Given the description of an element on the screen output the (x, y) to click on. 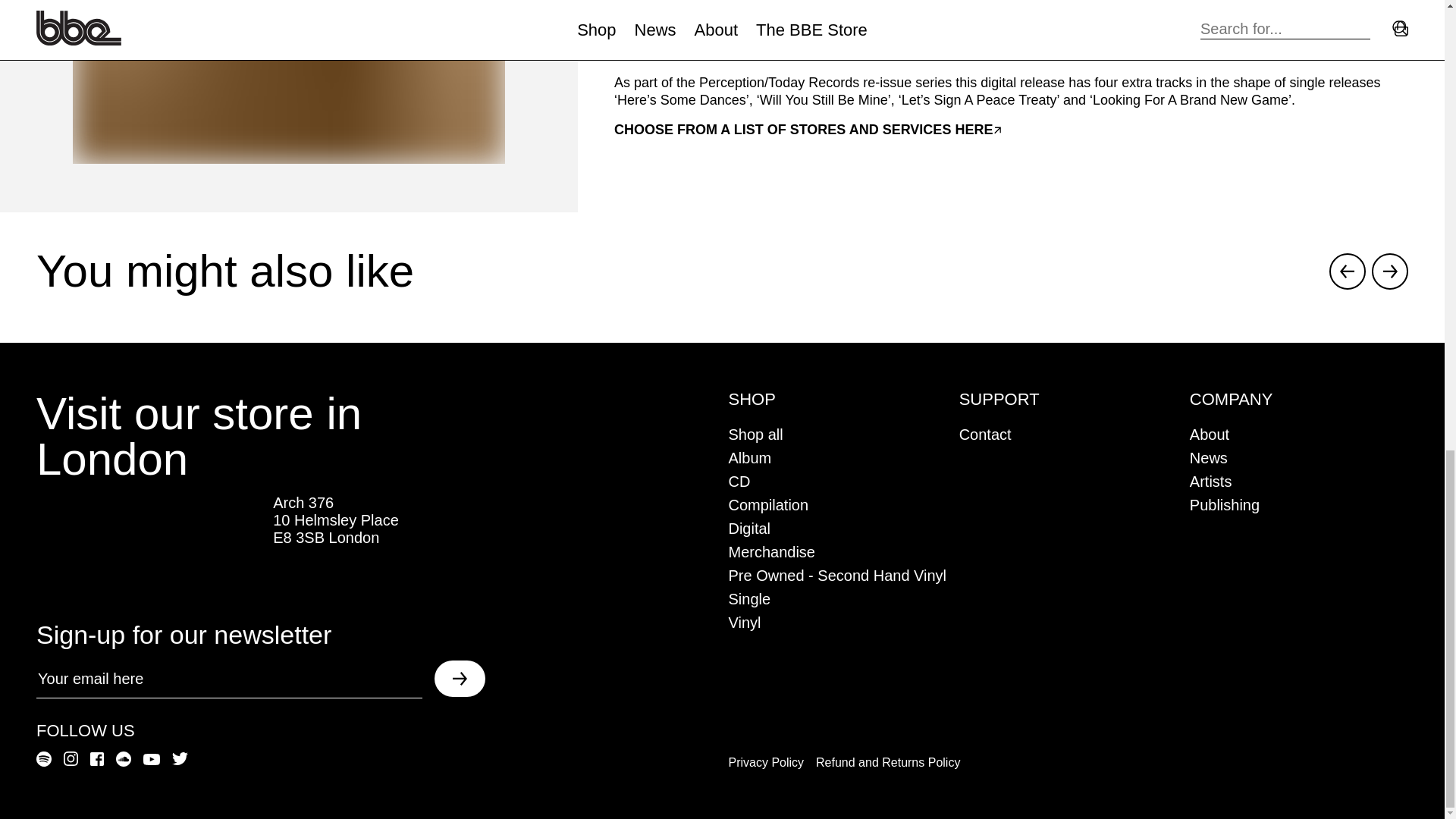
News (1208, 457)
The BBE Store in GQ Magazine (148, 545)
Contact (985, 434)
Single (749, 598)
CD (738, 481)
Album (749, 457)
About (1208, 434)
Refund and Returns Policy (887, 762)
Privacy Policy (765, 762)
Pre Owned - Second Hand Vinyl (837, 575)
CHOOSE FROM A LIST OF STORES AND SERVICES HERE (808, 129)
Compilation (768, 504)
Publishing (1224, 504)
Artists (1210, 481)
Merchandise (771, 551)
